Given the description of an element on the screen output the (x, y) to click on. 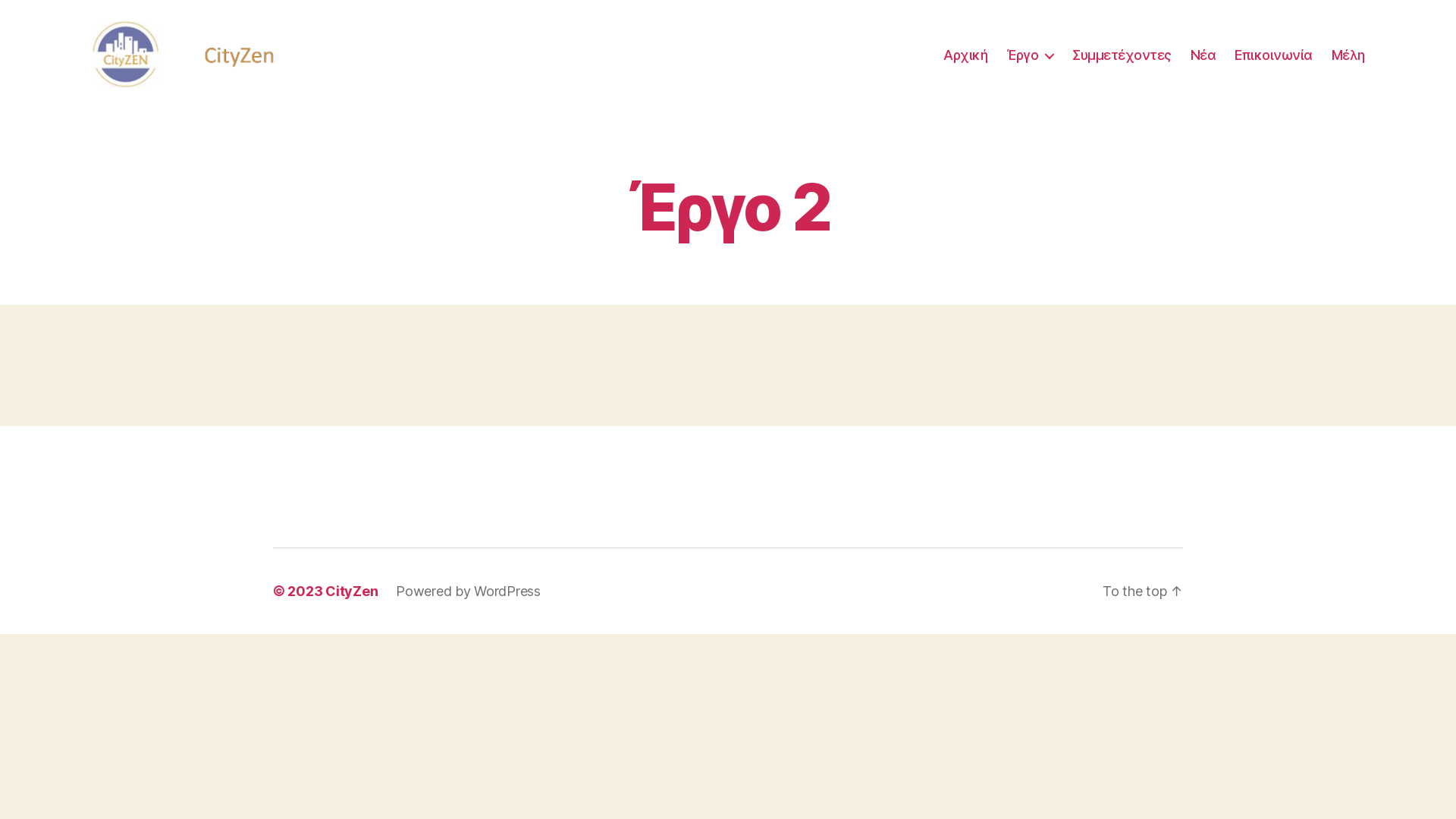
CityZen Element type: text (351, 591)
Powered by WordPress Element type: text (467, 591)
